Given the description of an element on the screen output the (x, y) to click on. 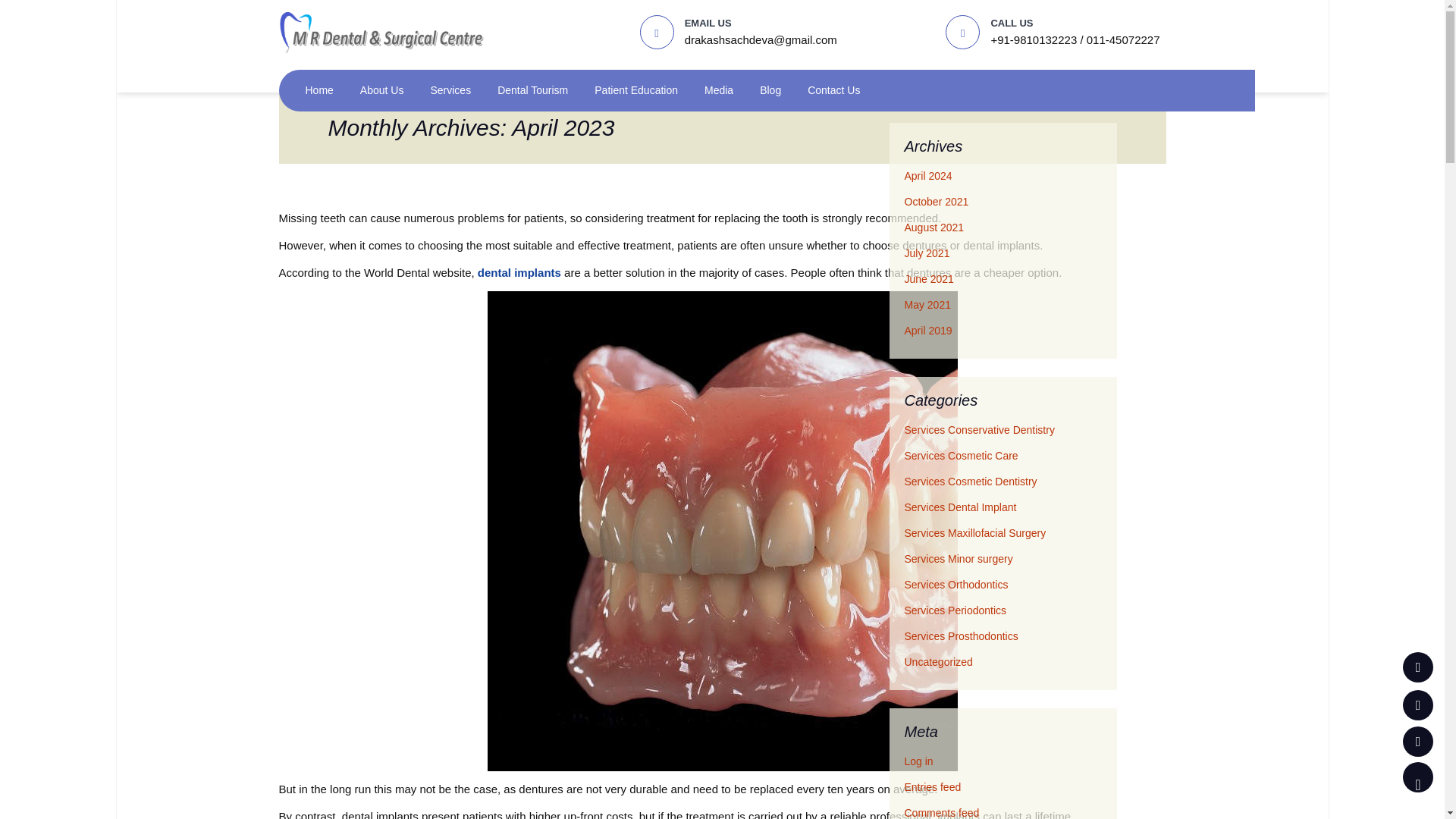
Services Cosmetic Care (960, 455)
Contact Us (834, 90)
About Us (381, 90)
June 2021 (928, 278)
April 2024 (928, 175)
Patient Education (636, 90)
Services Dental Implant (960, 507)
Dental Tourism (532, 90)
Services Conservative Dentistry (979, 429)
Services Minor surgery (957, 558)
